Given the description of an element on the screen output the (x, y) to click on. 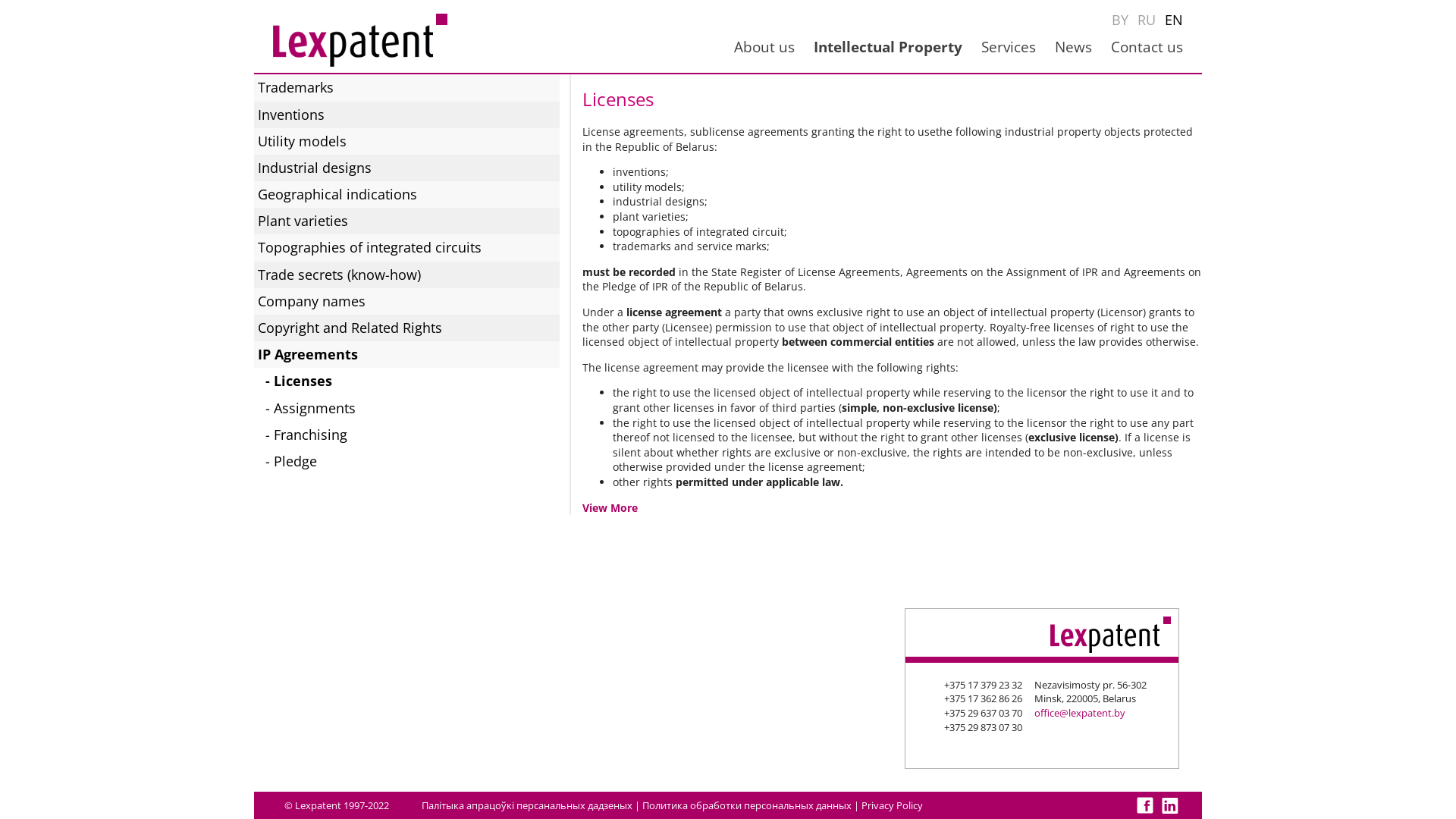
Licenses Element type: text (410, 380)
Copyright and Related Rights Element type: text (406, 327)
Trade secrets (know-how) Element type: text (406, 274)
Industrial designs Element type: text (406, 167)
Intellectual Property Element type: text (887, 46)
Privacy Policy Element type: text (891, 805)
Geographical indications Element type: text (406, 194)
News Element type: text (1073, 46)
IP Agreements Element type: text (406, 354)
Trademarks Element type: text (406, 87)
Services Element type: text (1008, 46)
Pledge Element type: text (410, 461)
Franchising Element type: text (410, 434)
office@lexpatent.by Element type: text (1079, 712)
Company names Element type: text (406, 301)
Plant varieties Element type: text (406, 220)
About us Element type: text (764, 46)
Assignments Element type: text (410, 408)
View More Element type: text (609, 507)
Contact us Element type: text (1146, 46)
Topographies of integrated circuits Element type: text (406, 247)
Utility models Element type: text (406, 141)
Inventions Element type: text (406, 114)
